Given the description of an element on the screen output the (x, y) to click on. 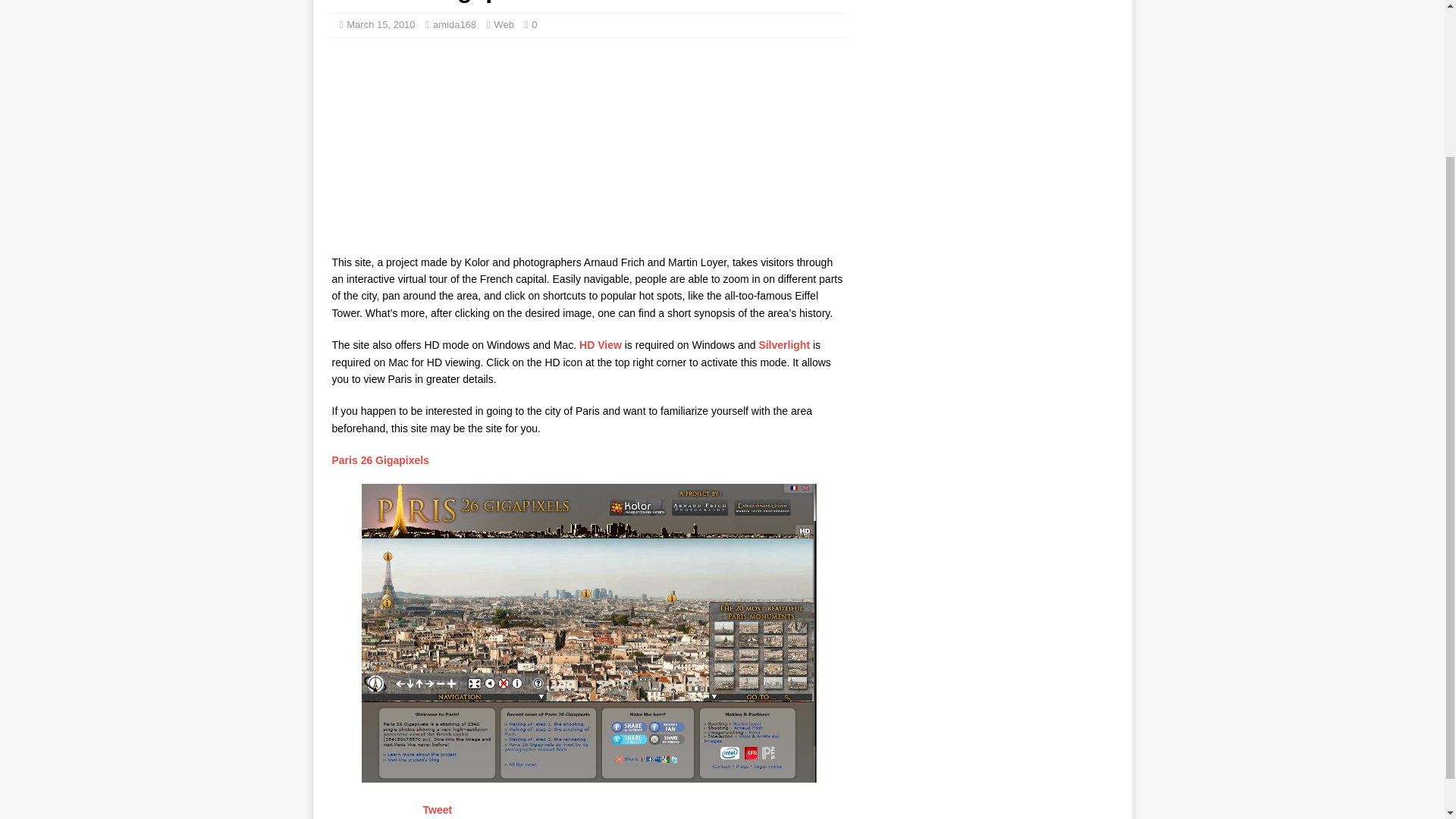
March 15, 2010 (380, 24)
Paris 26 Gigapixels (380, 460)
amida168 (454, 24)
Tweet (437, 809)
Advertisement (445, 147)
Silverlight (785, 345)
Web (503, 24)
HD View (600, 345)
